Given the description of an element on the screen output the (x, y) to click on. 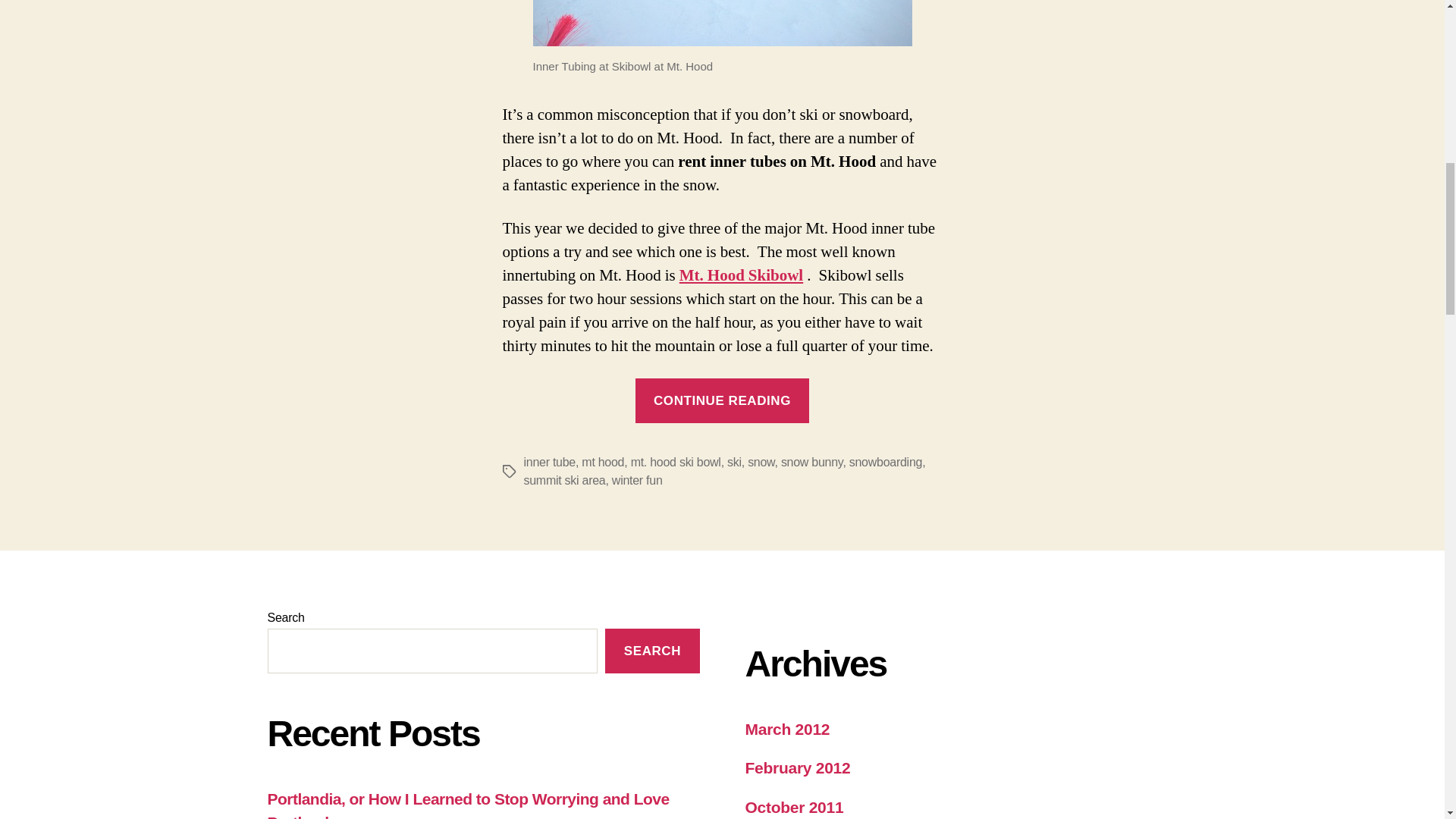
ski (733, 461)
SEARCH (651, 650)
snowboarding (884, 461)
mt. hood ski bowl (675, 461)
inner tube (548, 461)
Mt. Hood Skibowl (741, 275)
mt hood (602, 461)
winter fun (636, 480)
snow (761, 461)
summit ski area (563, 480)
Inner Tubing at Skibowl at Mt. Hood (721, 22)
snow bunny (811, 461)
